Given the description of an element on the screen output the (x, y) to click on. 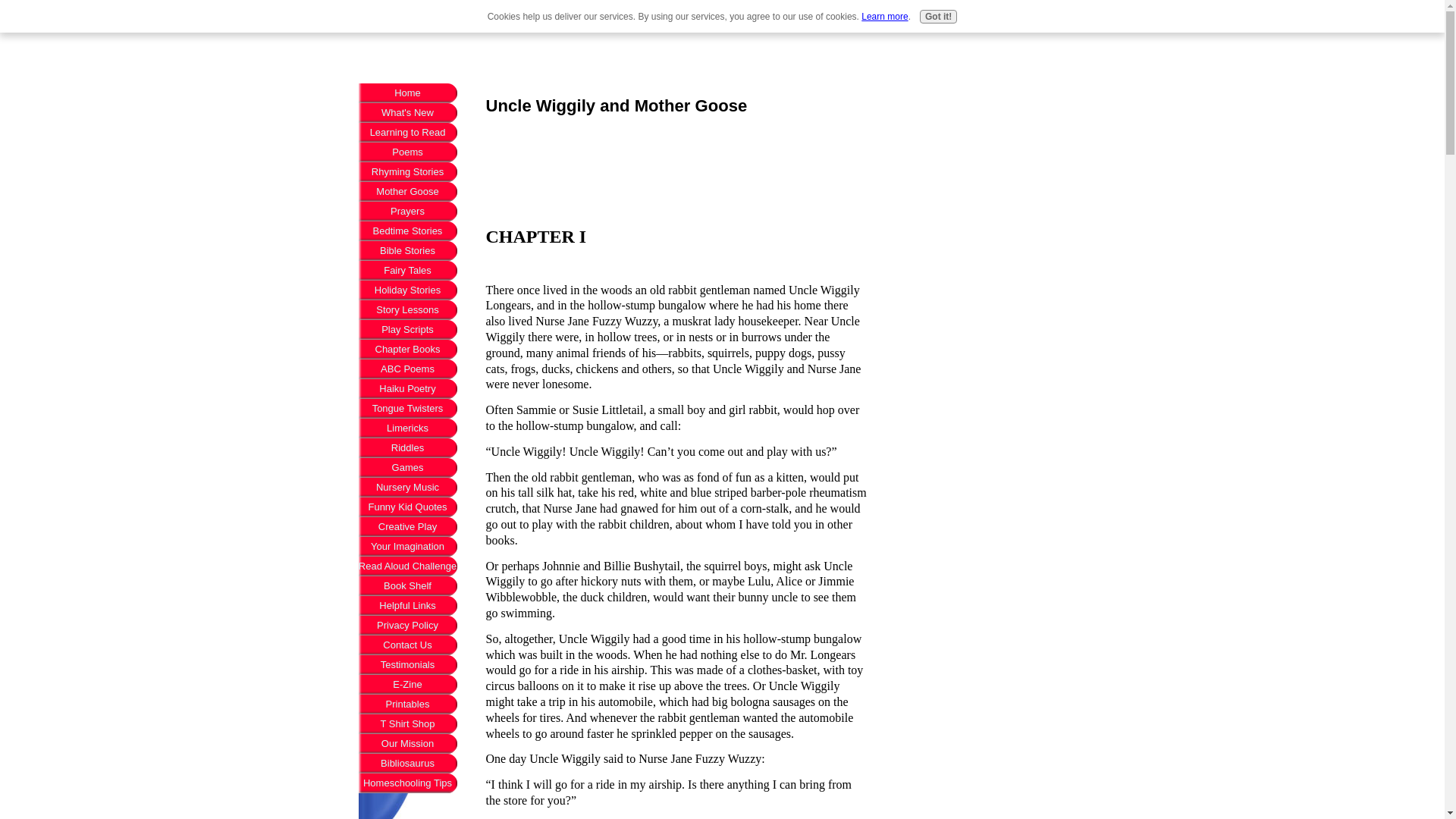
ABC Poems (407, 369)
Mother Goose (407, 191)
Nursery Music (407, 487)
Read Aloud Challenge (407, 566)
Book Shelf (407, 586)
Chapter Books (407, 349)
Rhyming Stories (407, 171)
Haiku Poetry (407, 388)
Home (407, 93)
Prayers (407, 211)
Play Scripts (407, 329)
Learning to Read (407, 132)
Bedtime Stories (407, 230)
Games (407, 467)
Bible Stories (407, 250)
